Given the description of an element on the screen output the (x, y) to click on. 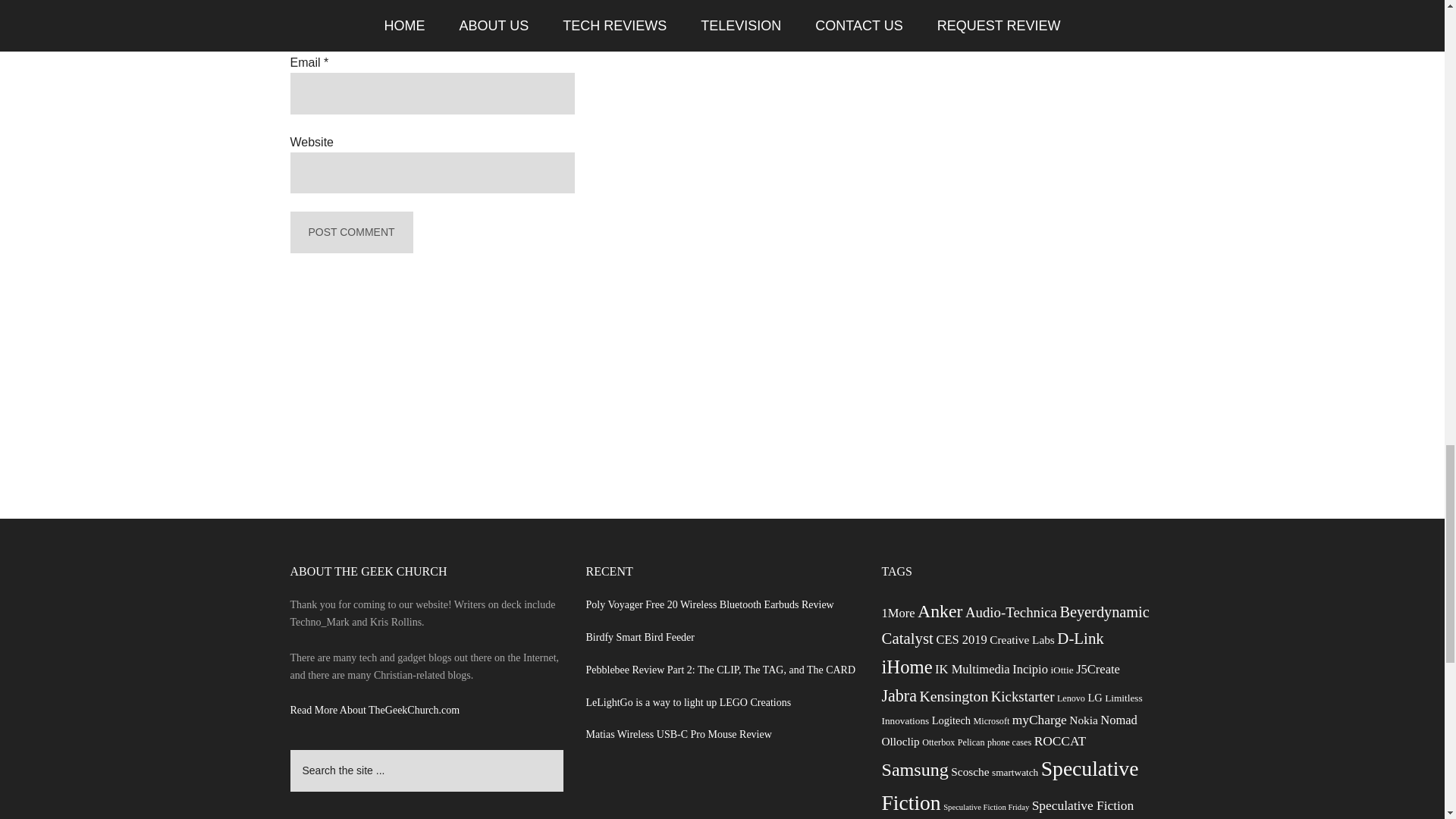
Advertisement (722, 785)
Post Comment (350, 232)
Post Comment (350, 232)
